Given the description of an element on the screen output the (x, y) to click on. 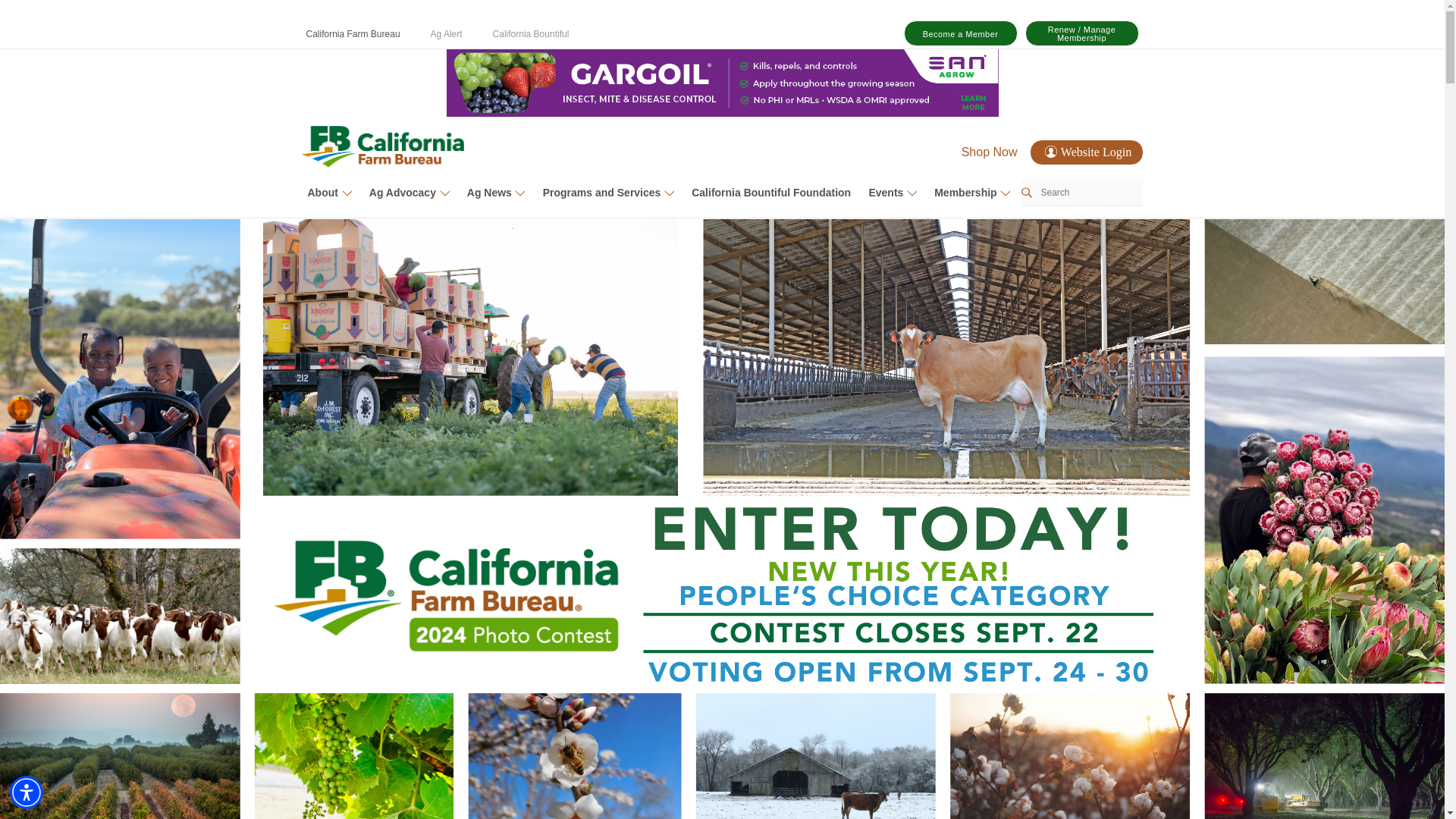
Programs and Services (608, 192)
Ag News (496, 192)
About (329, 192)
Ag Advocacy (408, 192)
Shop Now (988, 152)
California Farm Bureau (352, 32)
Ag Alert (446, 32)
Accessibility Menu (26, 792)
Website Login (1085, 152)
California Bountiful (531, 32)
Become a Member (960, 32)
